Given the description of an element on the screen output the (x, y) to click on. 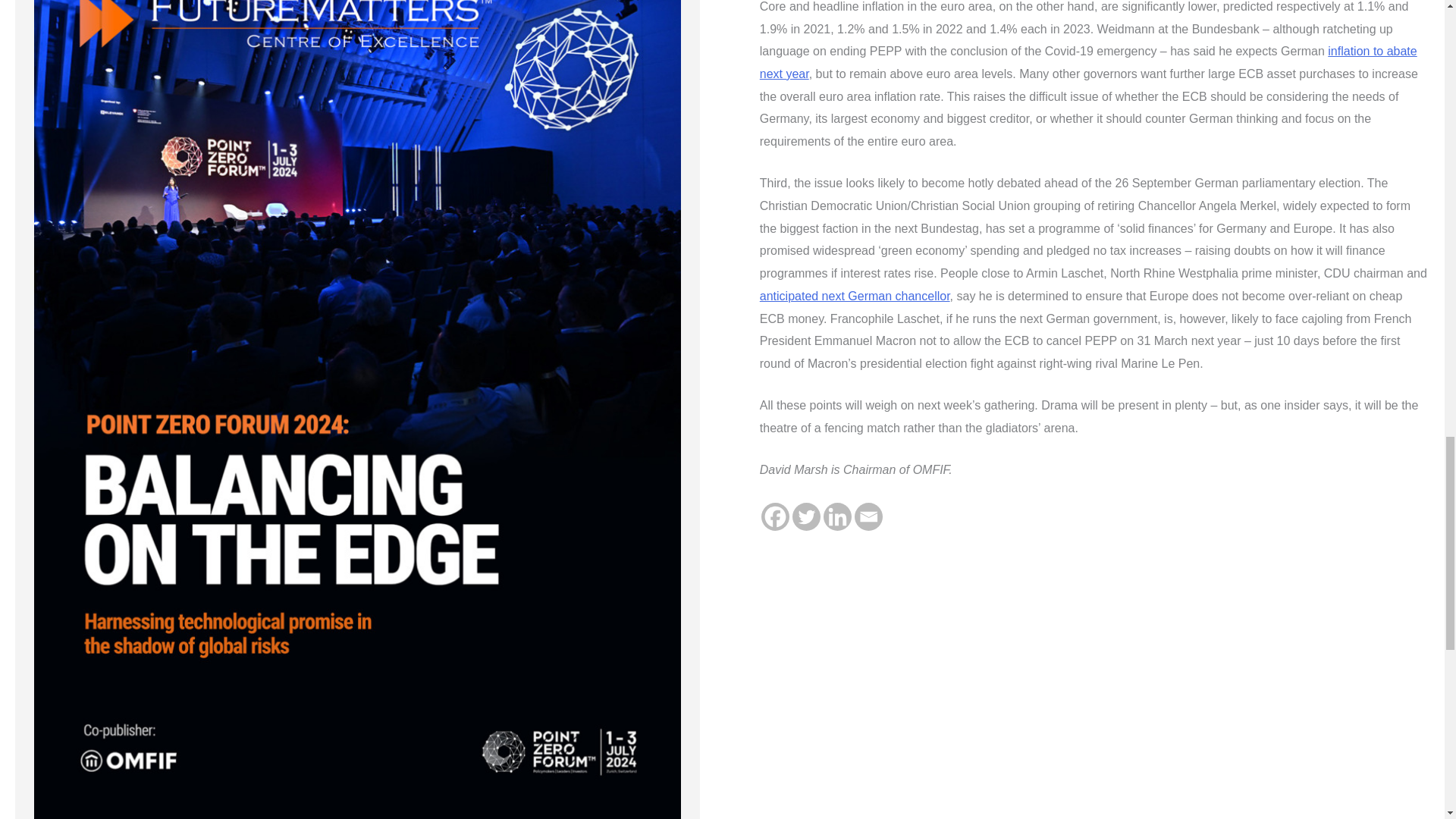
Facebook (775, 516)
Twitter (806, 516)
Email (868, 516)
Linkedin (837, 516)
